Given the description of an element on the screen output the (x, y) to click on. 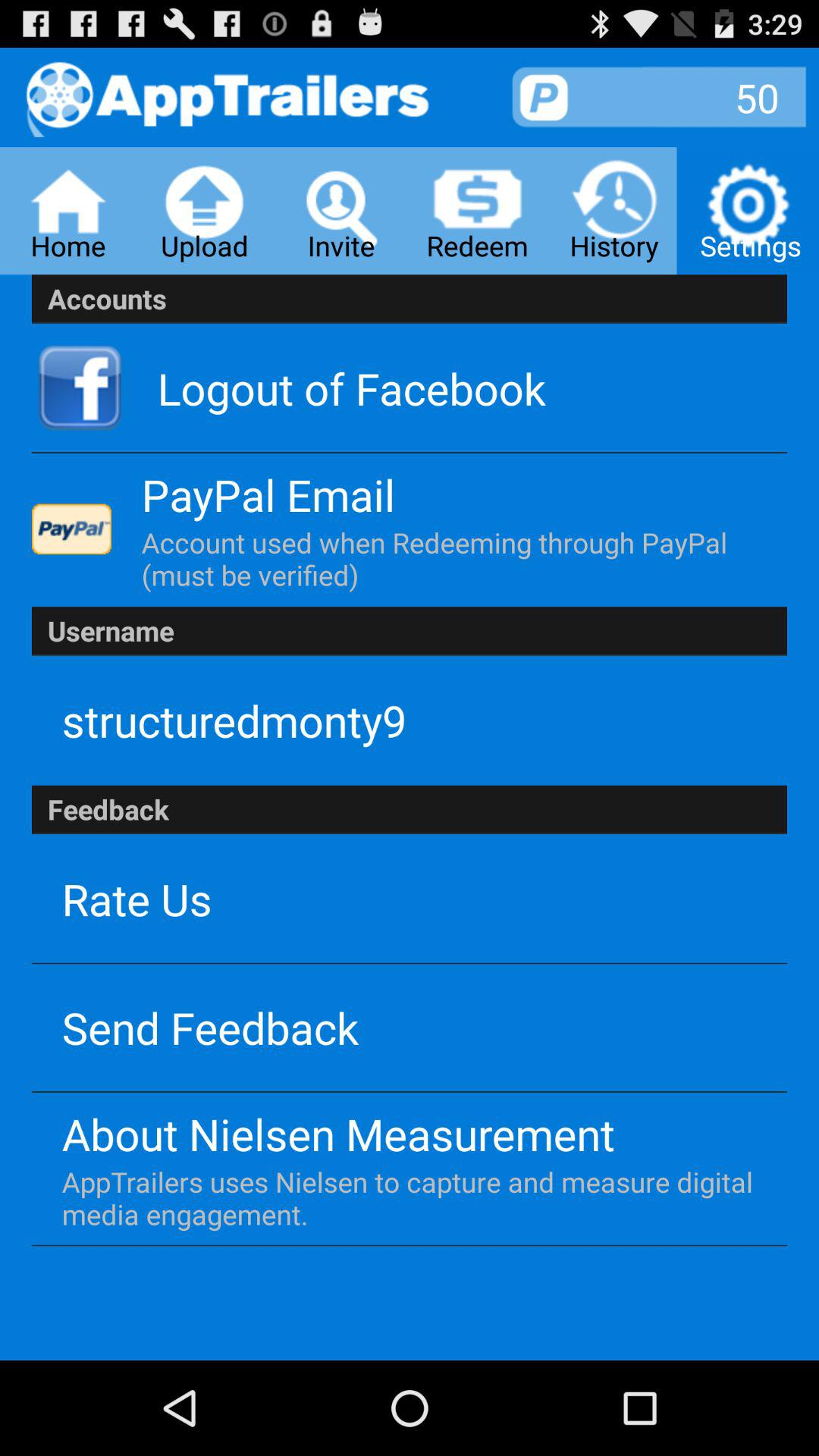
click the item above the username item (448, 558)
